Given the description of an element on the screen output the (x, y) to click on. 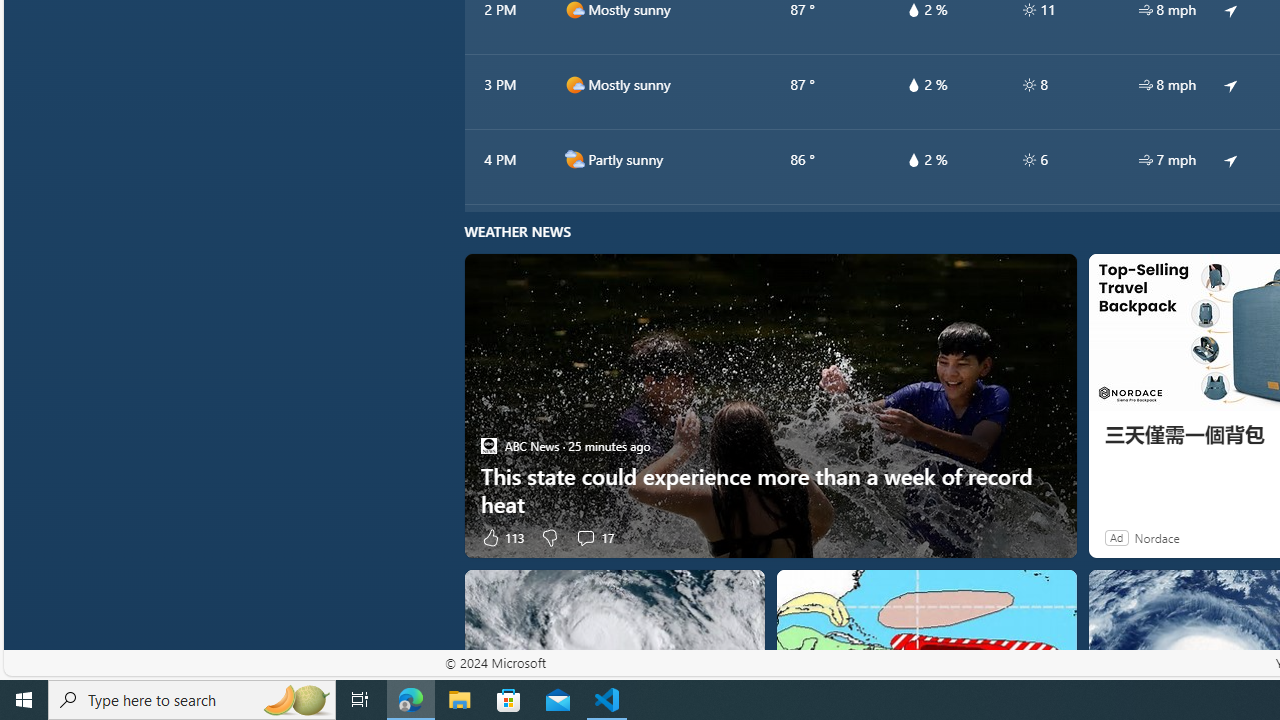
ABC News (488, 445)
common/arrow (1231, 159)
hourlyTable/drop (913, 159)
d1000 (574, 84)
hourlyTable/uv (1028, 159)
d2000 (574, 159)
View comments 17 Comment (594, 537)
hourlyTable/wind (1145, 159)
113 Like (502, 537)
This state could experience more than a week of record heat (770, 489)
